Given the description of an element on the screen output the (x, y) to click on. 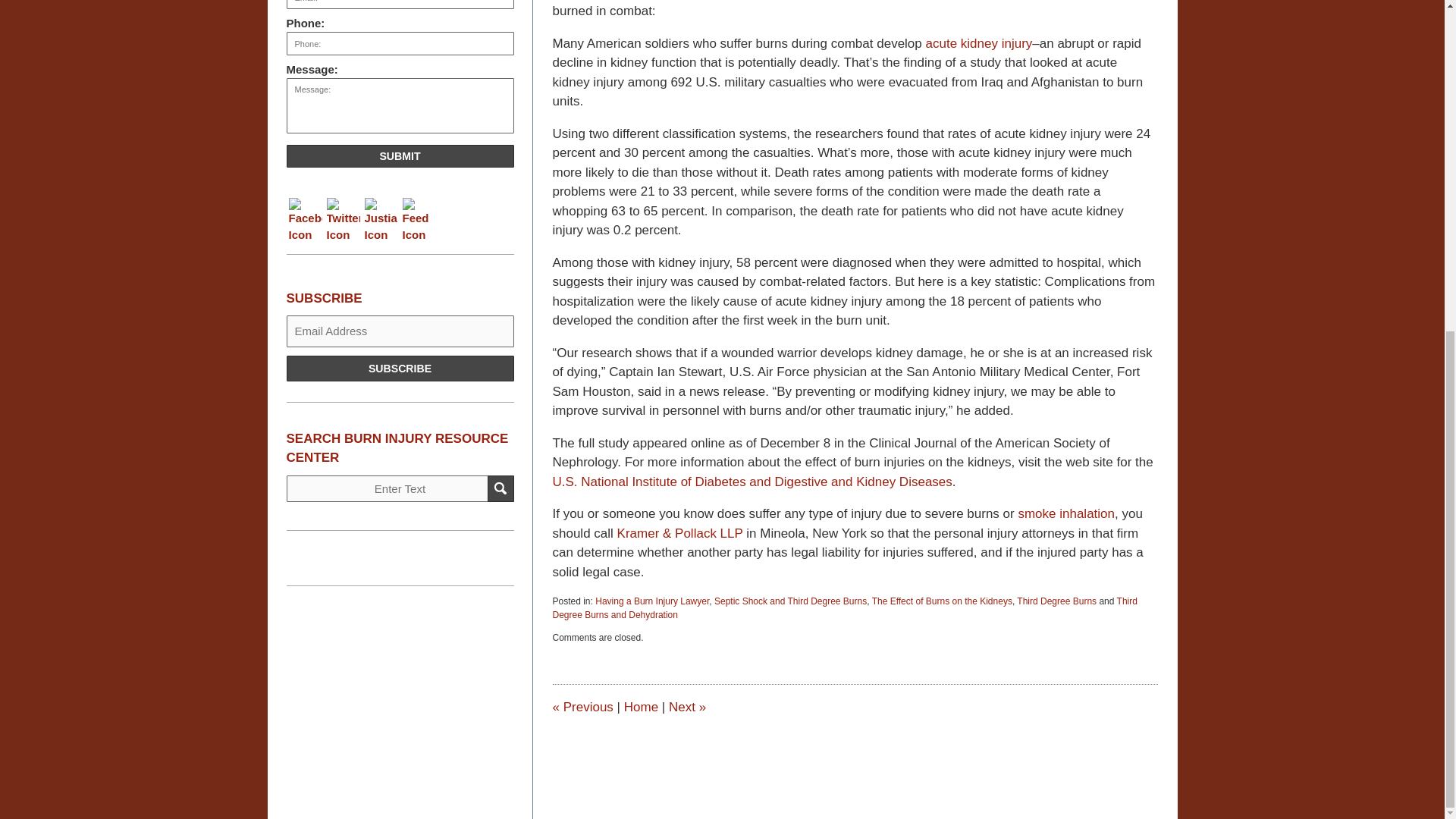
Third Degree Burns (1056, 601)
View all posts in The Effect of Burns on the Kidneys (941, 601)
acute kidney injury (978, 43)
SUBSCRIBE (399, 368)
View all posts in Having a Burn Injury Lawyer (652, 601)
smoke inhalation (1066, 513)
Third Degree Burns and Dehydration (844, 607)
Space Heaters and Burn Injuries (581, 707)
SUBMIT (399, 155)
